Given the description of an element on the screen output the (x, y) to click on. 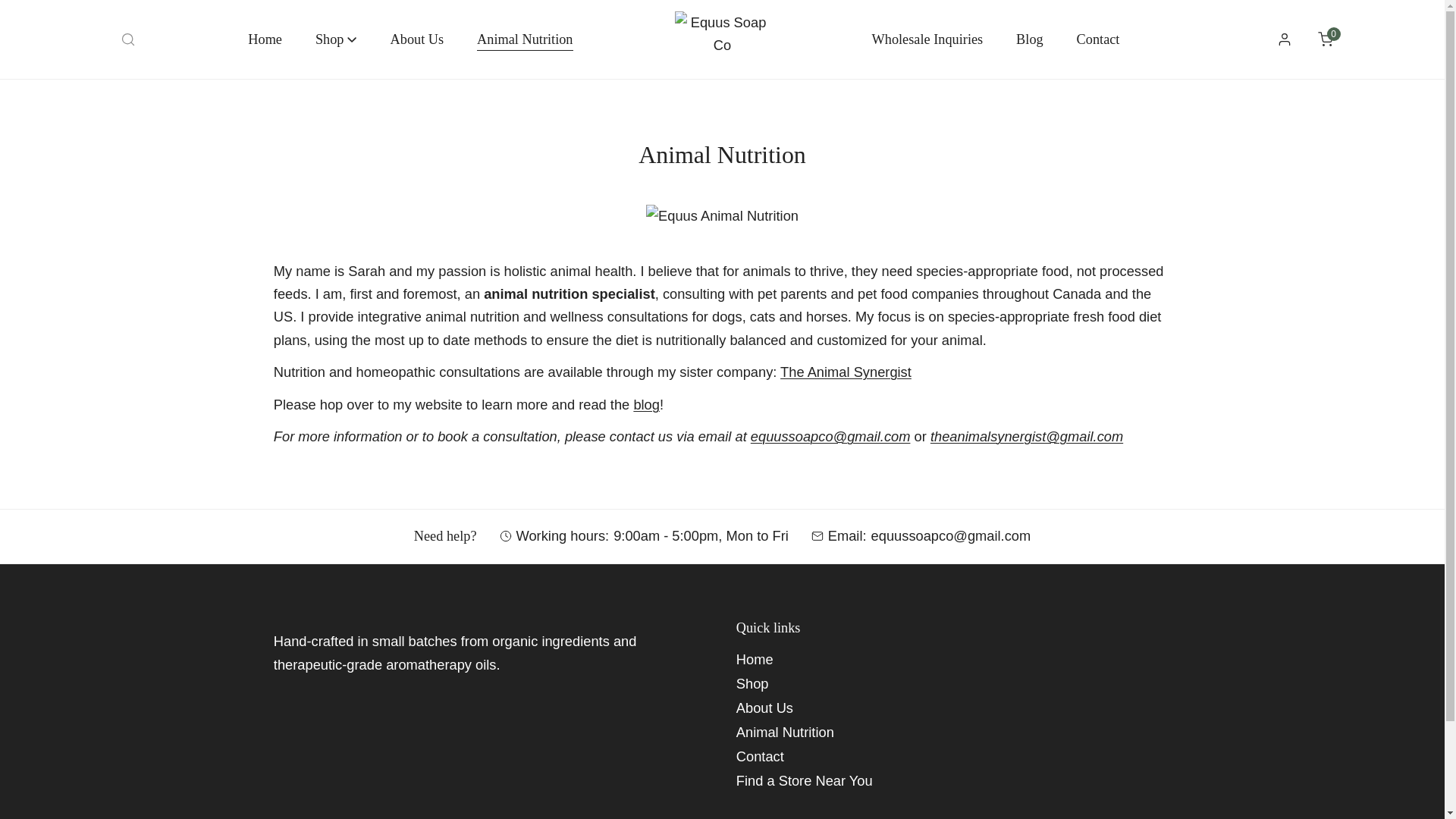
About Us (764, 707)
Find a Store Near You (804, 780)
Log in (1283, 38)
Home (264, 39)
Home (754, 659)
Animal Nutrition (785, 731)
Blog (1028, 39)
SKIP TO CONTENT (29, 18)
blog (646, 403)
Animal Nutrition (524, 39)
Wholesale Inquiries (928, 39)
The Animal Synergist (845, 371)
About Us (417, 39)
Contact (1324, 38)
